Given the description of an element on the screen output the (x, y) to click on. 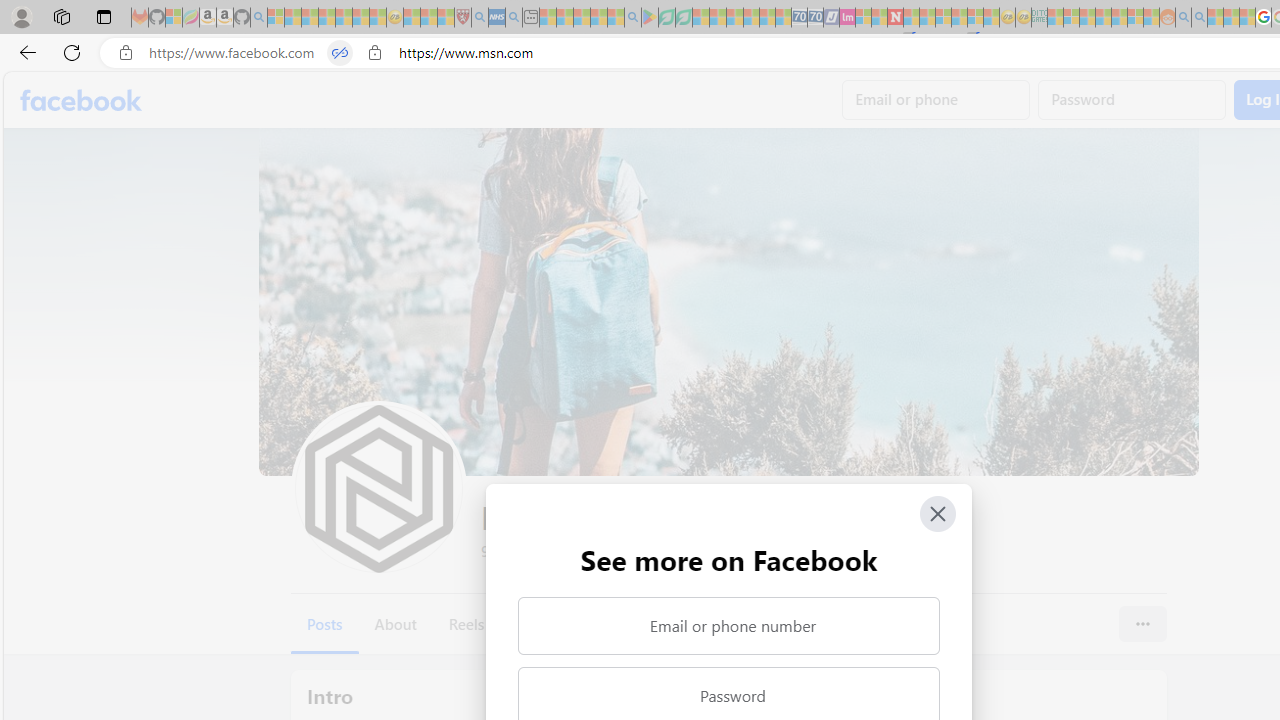
utah sues federal government - Search - Sleeping (513, 17)
